Given the description of an element on the screen output the (x, y) to click on. 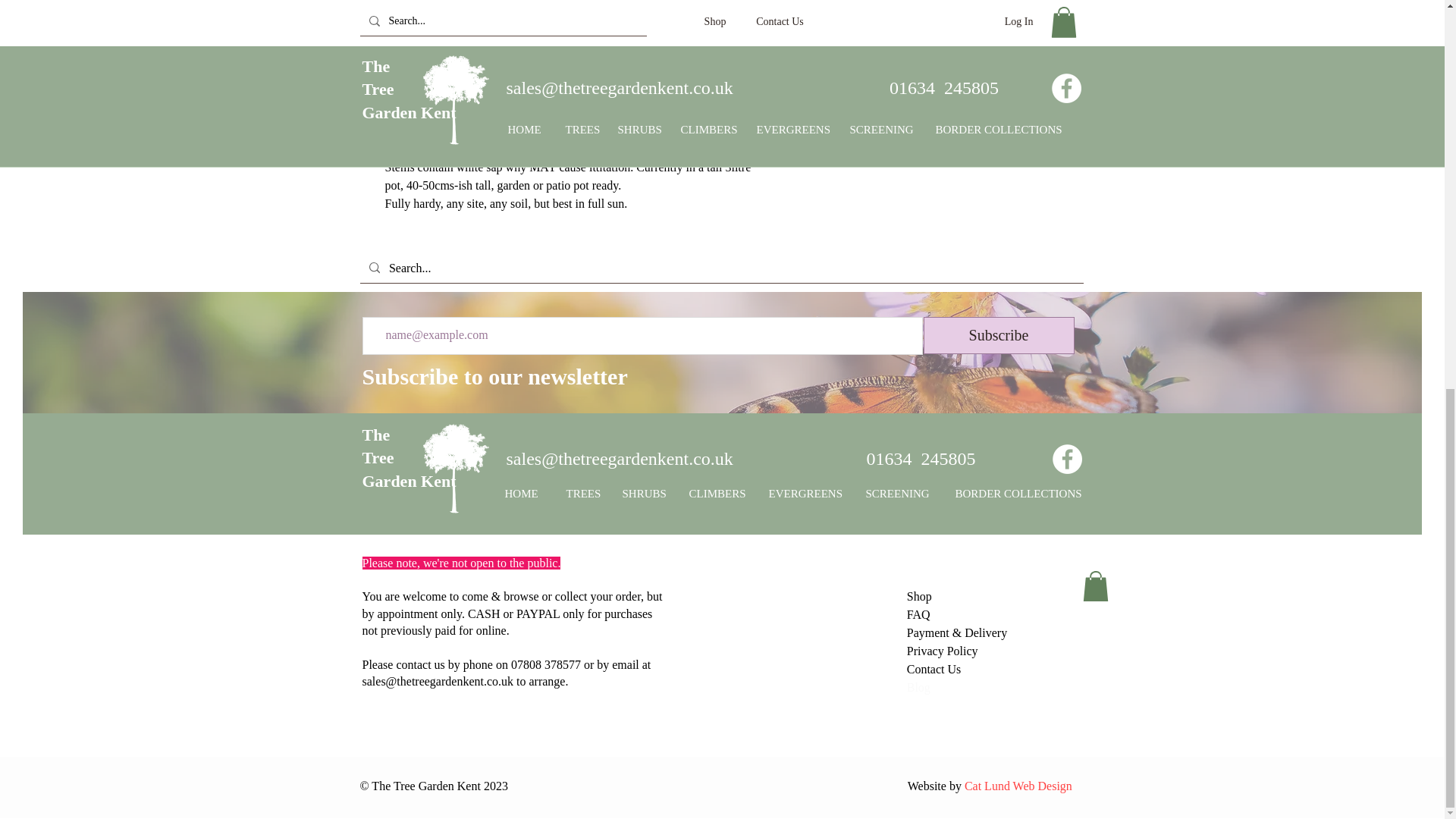
SCREENING (898, 493)
CLIMBERS (717, 493)
TREES (582, 493)
HOME (523, 493)
EVERGREENS (805, 493)
SHRUBS (644, 493)
01634  245805 (920, 458)
BORDER COLLECTIONS (1018, 493)
Subscribe (998, 334)
